Given the description of an element on the screen output the (x, y) to click on. 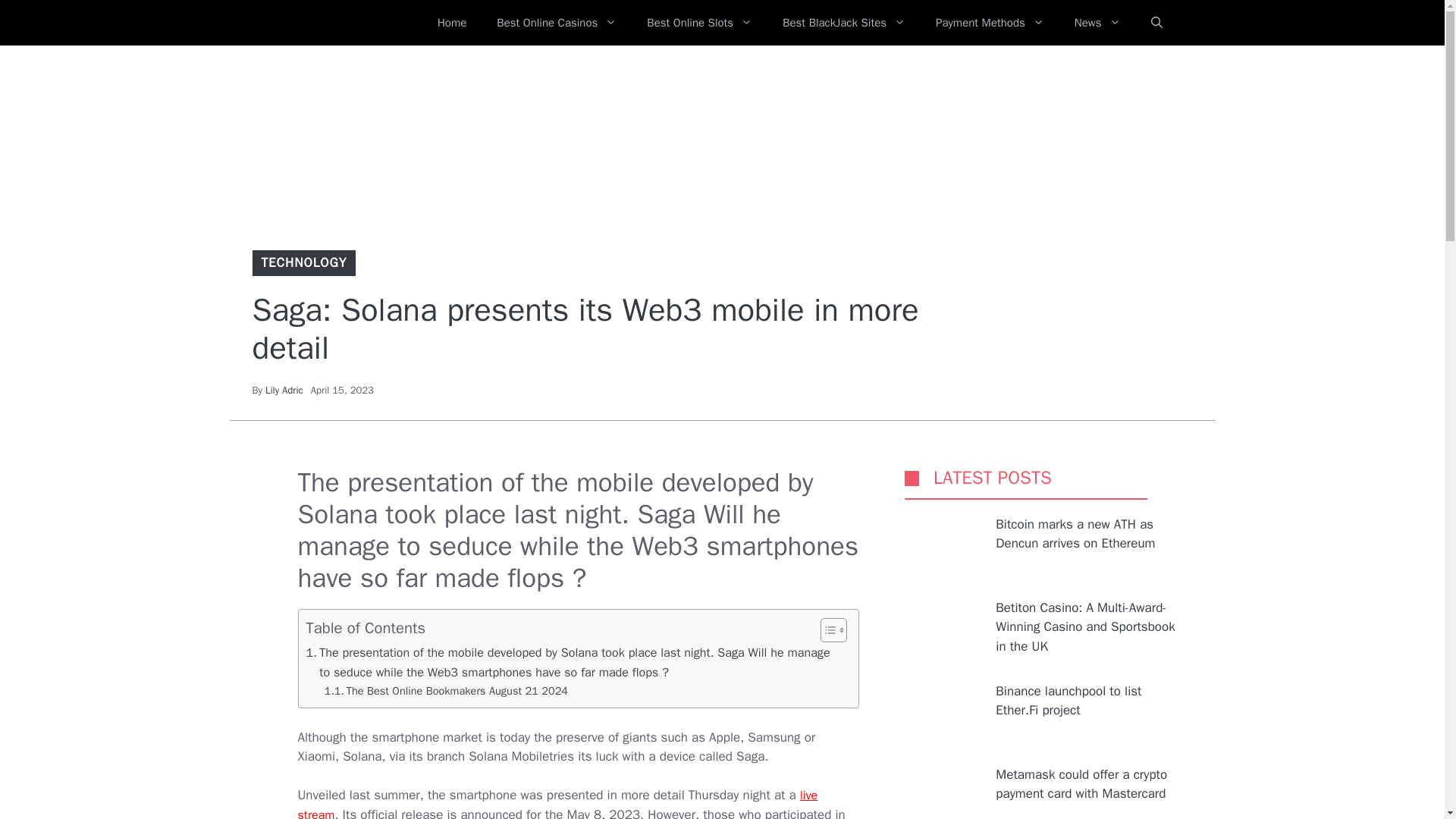
Best Online Casinos (556, 22)
Payment Methods (989, 22)
Best Online Slots (699, 22)
Home (451, 22)
Lily Adric (283, 390)
Royals Blue (331, 22)
TECHNOLOGY (303, 262)
Best BlackJack Sites (843, 22)
SORRY, YOUR BROWSER DOES NOT SUPPORT INLINE SVG. (911, 477)
